Given the description of an element on the screen output the (x, y) to click on. 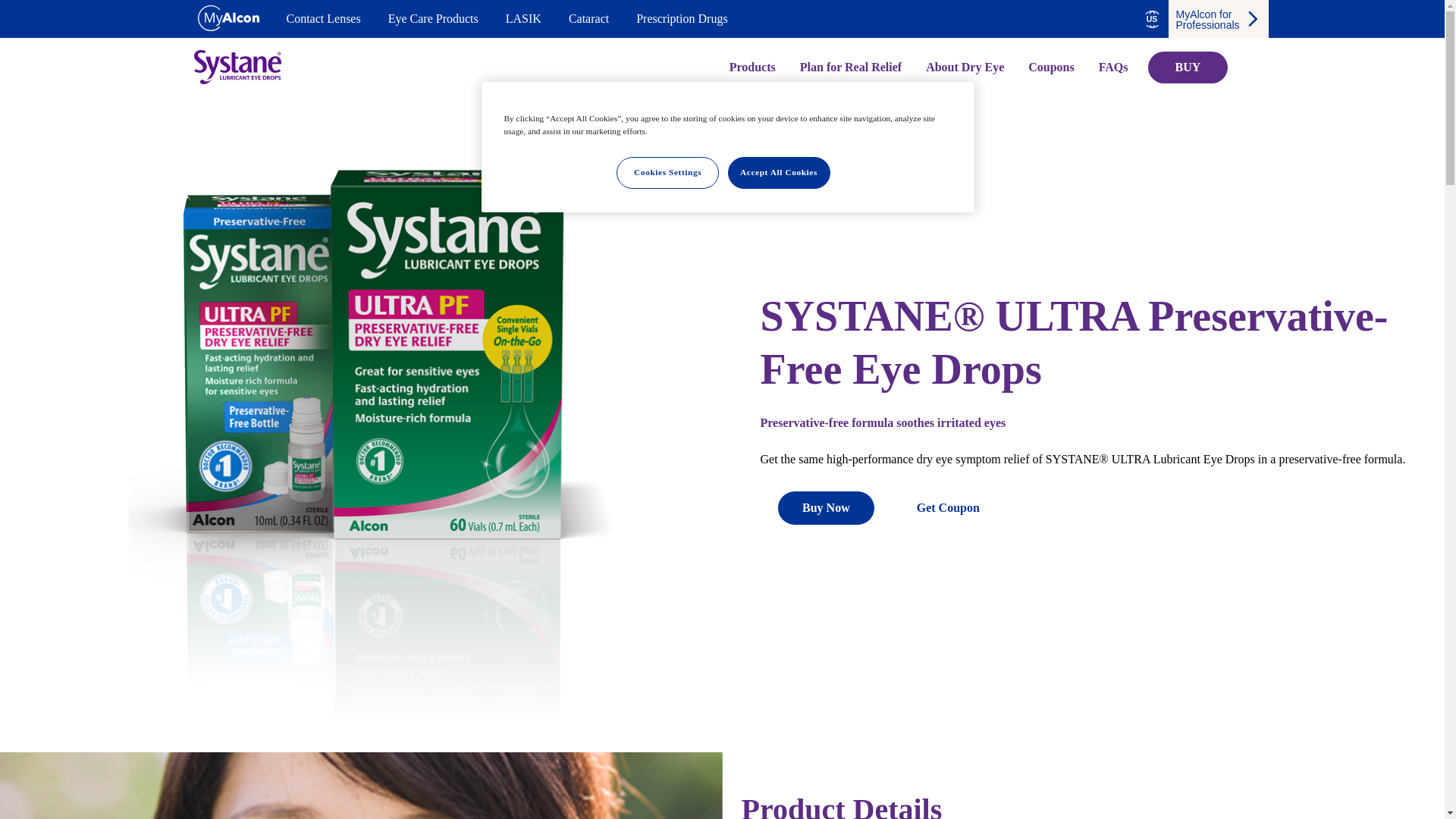
Learn more about Alcon Contact Lenses (323, 18)
MyAlcon for  Professionals (1217, 18)
Prescription Drugs (681, 18)
LASIK (523, 18)
Learn more about Alcon LASIK solutions (523, 18)
Eye Care Products (433, 18)
Switch language (1151, 18)
Learn more about Alcon cataract solutions (588, 18)
MyAlcon for Professionals (1217, 18)
Cataract (588, 18)
Learn more about Alcon Eye Care Products (433, 18)
Contact Lenses (323, 18)
US (1151, 18)
